Given the description of an element on the screen output the (x, y) to click on. 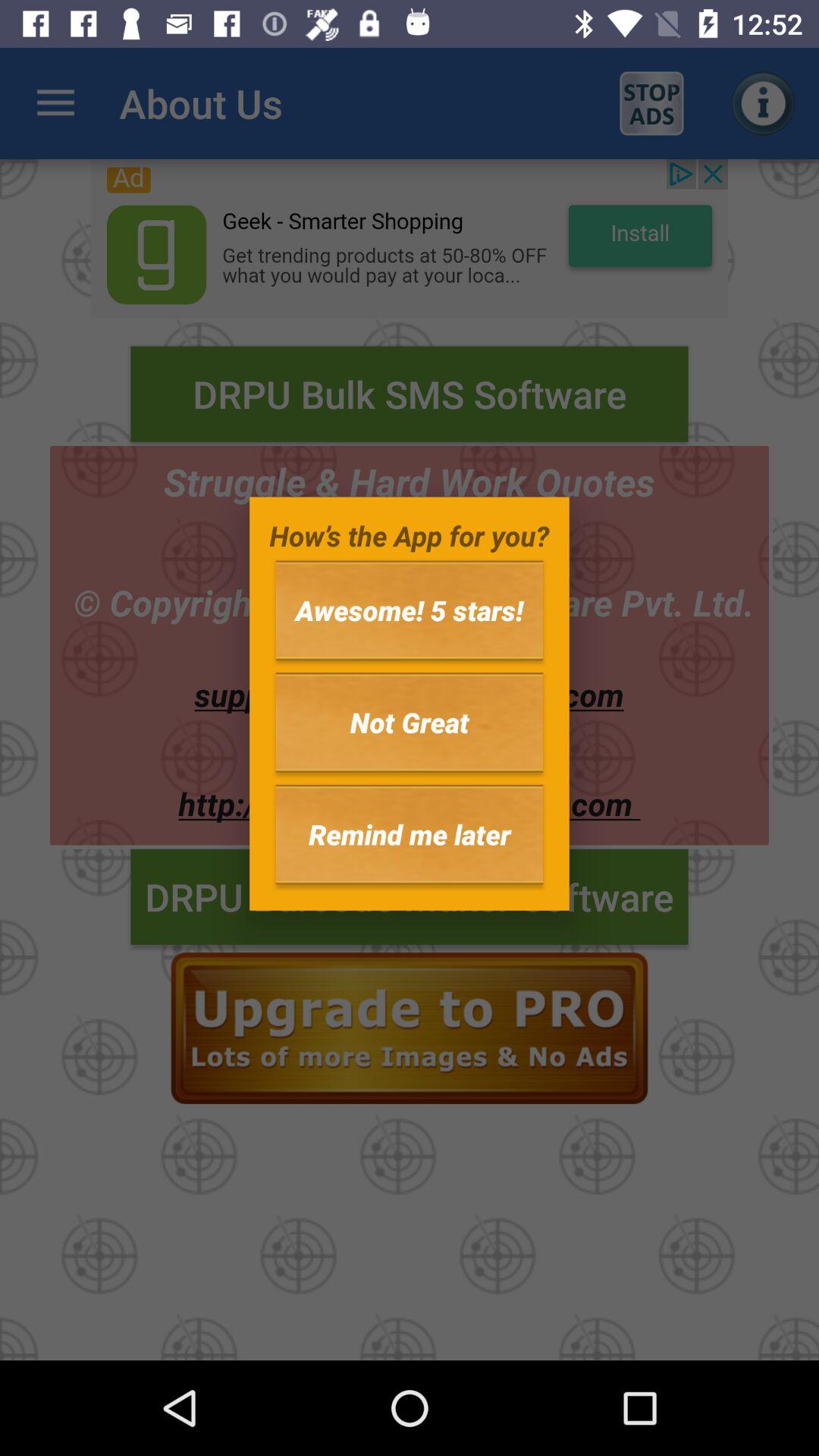
open item above remind me later (409, 722)
